Given the description of an element on the screen output the (x, y) to click on. 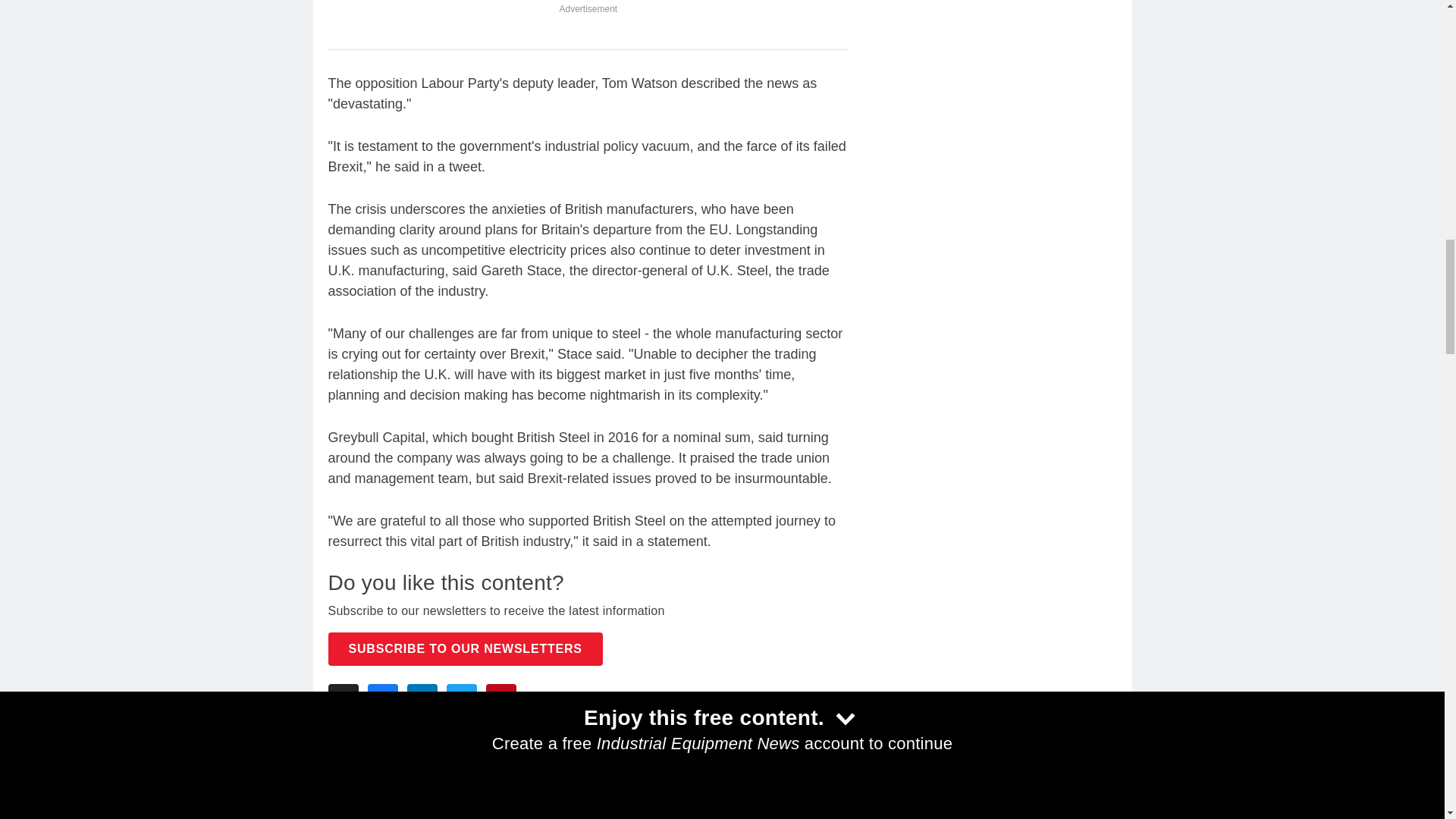
Share To facebook (381, 698)
Share To print (342, 698)
Share To linkedin (421, 698)
Share To pinterest (499, 698)
Share To twitter (460, 698)
